Given the description of an element on the screen output the (x, y) to click on. 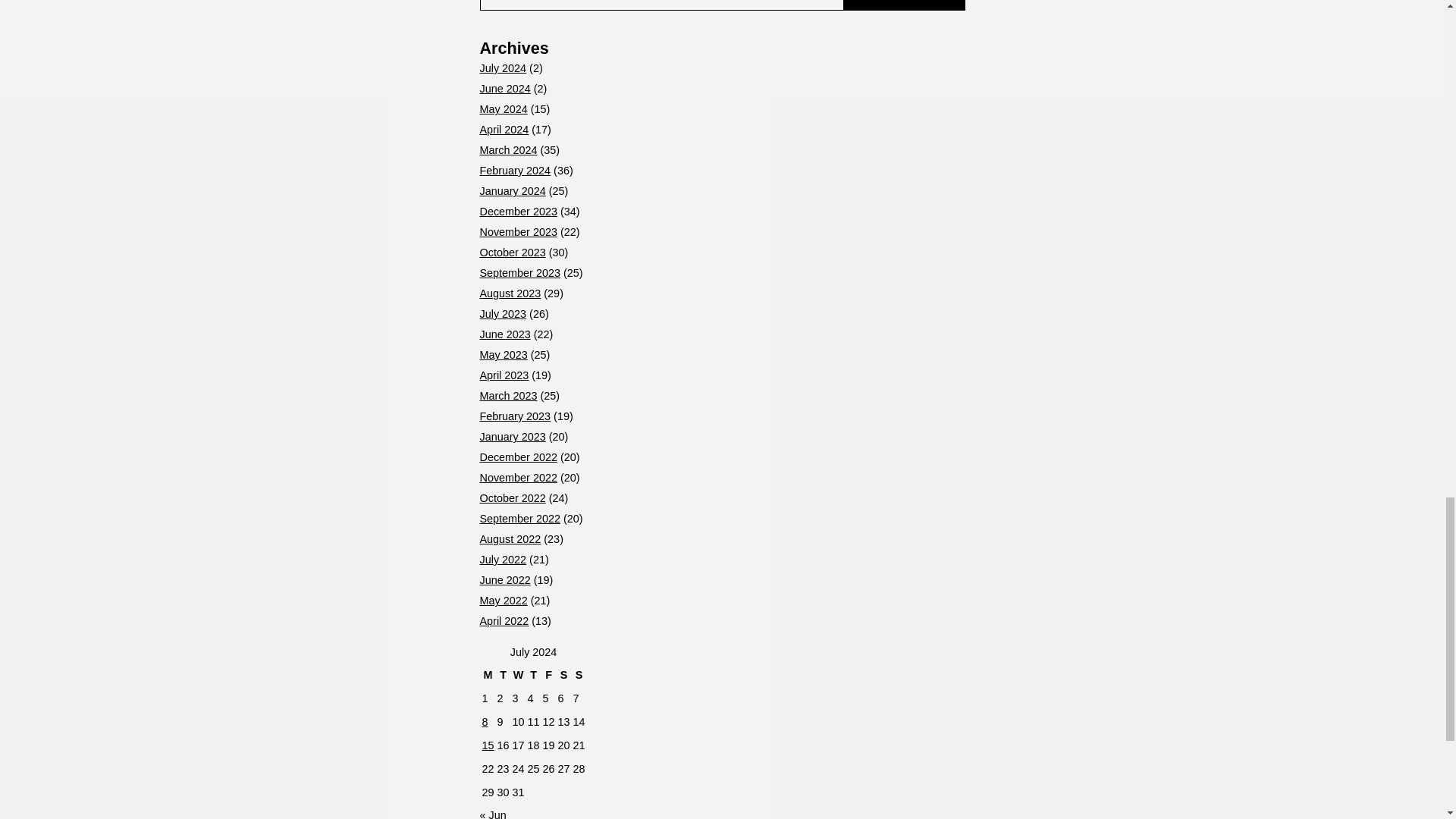
February 2024 (514, 170)
August 2023 (509, 293)
October 2023 (511, 252)
July 2022 (502, 559)
April 2022 (503, 621)
September 2022 (519, 518)
July 2023 (502, 313)
November 2022 (517, 477)
November 2023 (517, 232)
August 2022 (509, 539)
December 2023 (517, 211)
September 2023 (519, 272)
October 2022 (511, 498)
March 2024 (508, 150)
July 2024 (502, 68)
